Given the description of an element on the screen output the (x, y) to click on. 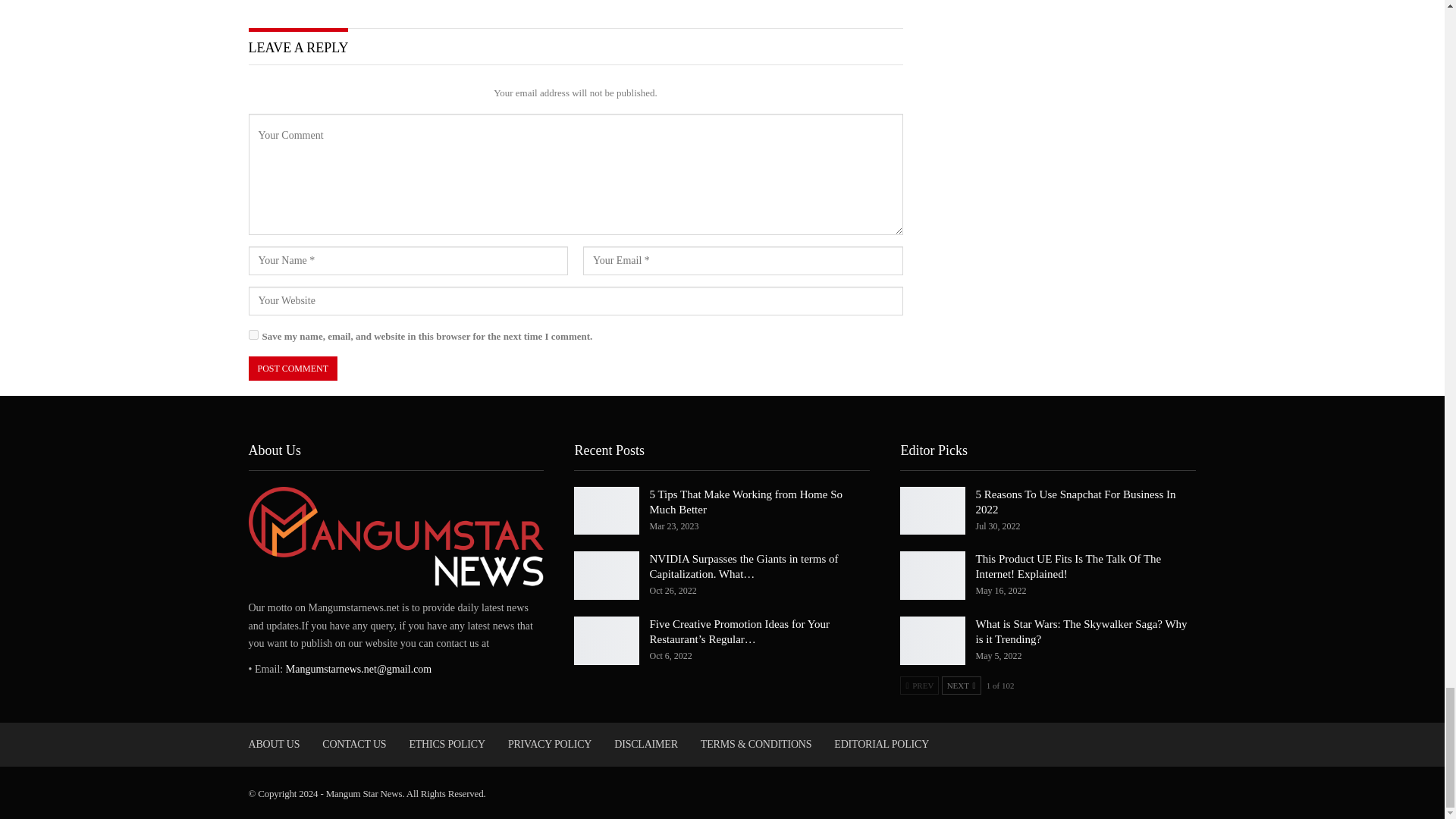
yes (253, 334)
Post Comment (292, 368)
